Given the description of an element on the screen output the (x, y) to click on. 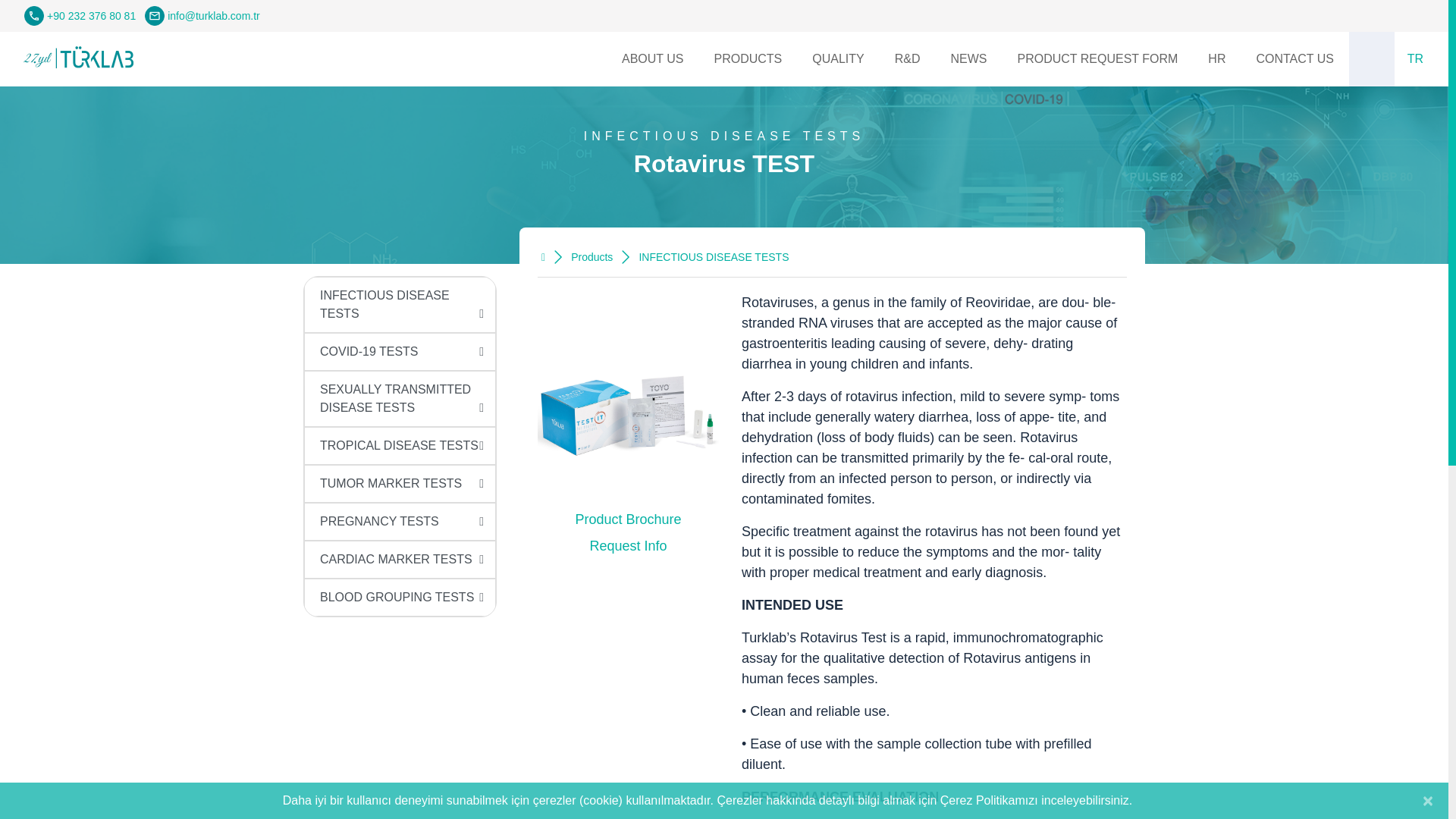
PRODUCTS (747, 58)
ABOUT US (652, 58)
